Given the description of an element on the screen output the (x, y) to click on. 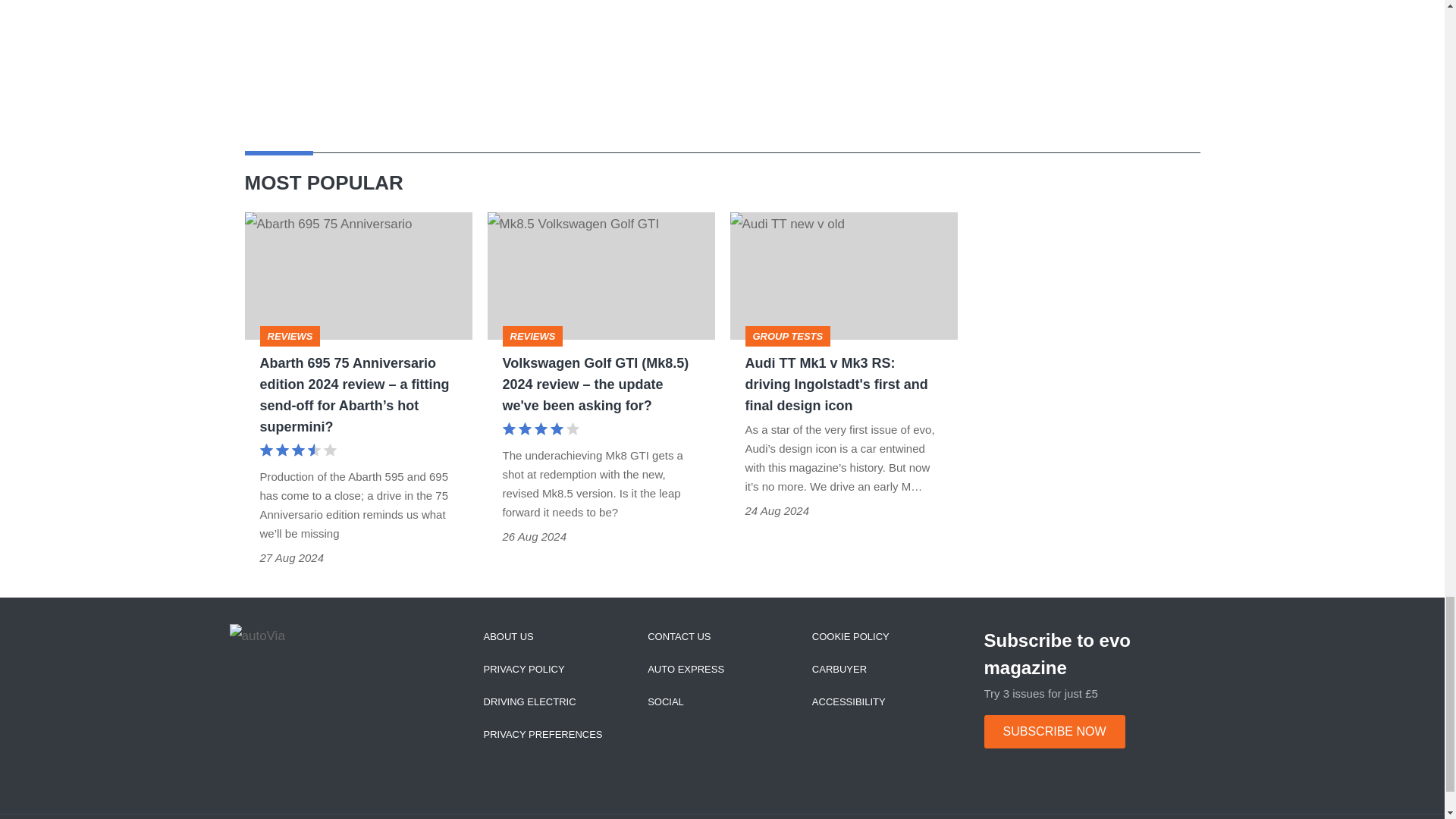
Subscribe now (1054, 731)
3.5 Stars (297, 451)
4 Stars (540, 430)
